Given the description of an element on the screen output the (x, y) to click on. 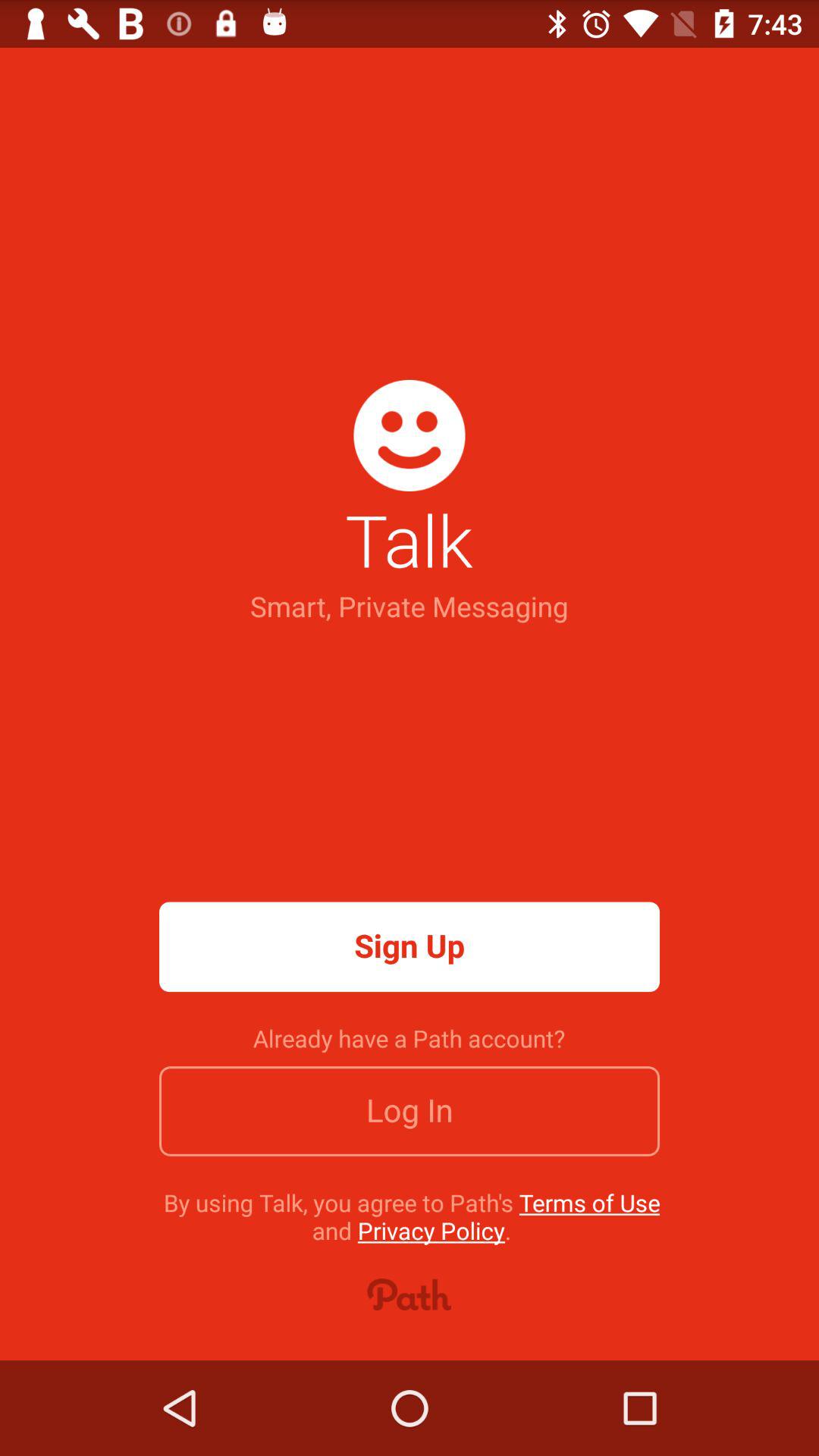
scroll until log in icon (409, 1111)
